Given the description of an element on the screen output the (x, y) to click on. 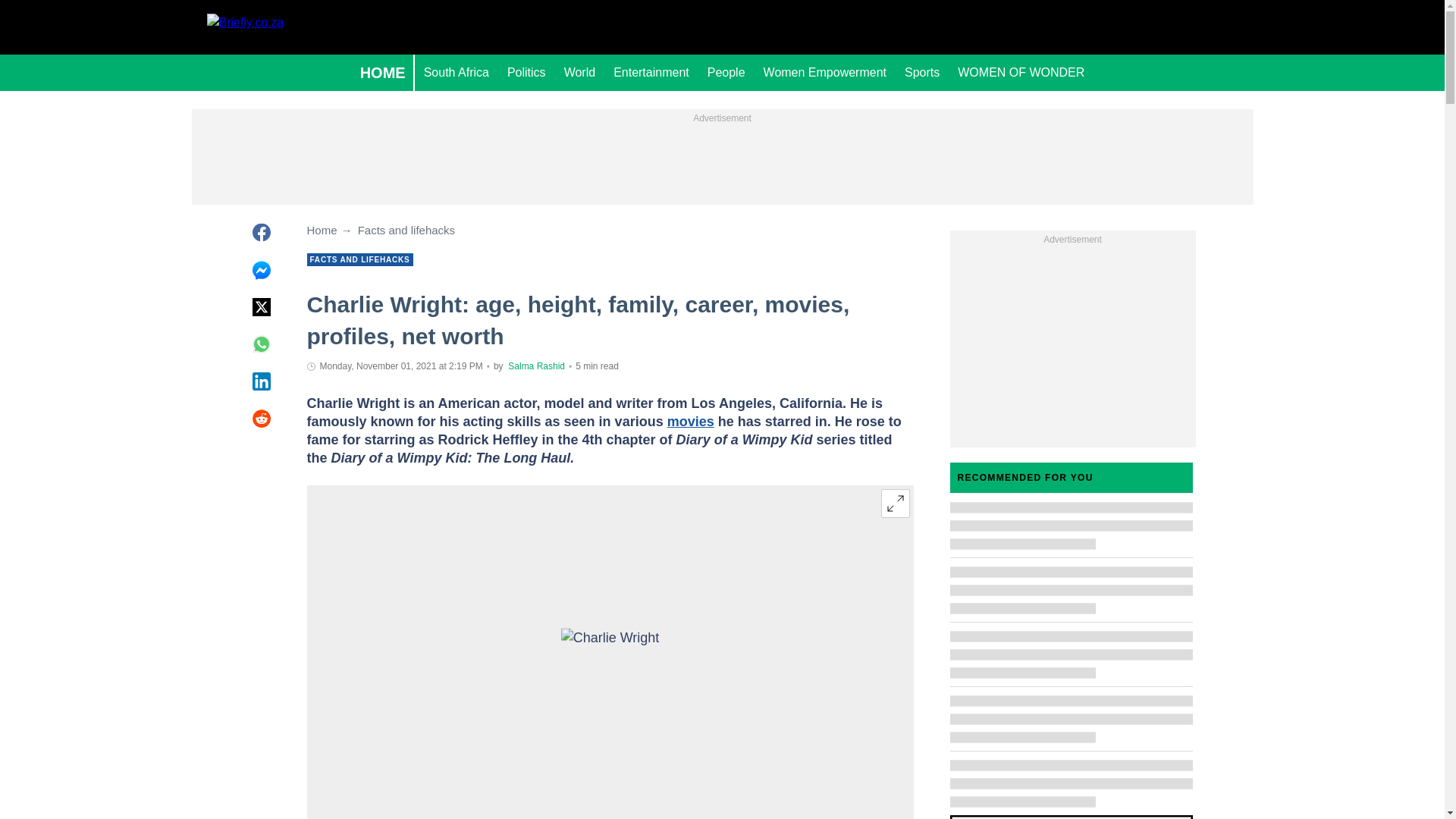
WOMEN OF WONDER (1021, 72)
Politics (525, 72)
Charlie Wright (609, 655)
Expand image (895, 502)
HOME (382, 72)
Women Empowerment (824, 72)
Sports (922, 72)
Author page (536, 366)
People (726, 72)
Entertainment (651, 72)
